Given the description of an element on the screen output the (x, y) to click on. 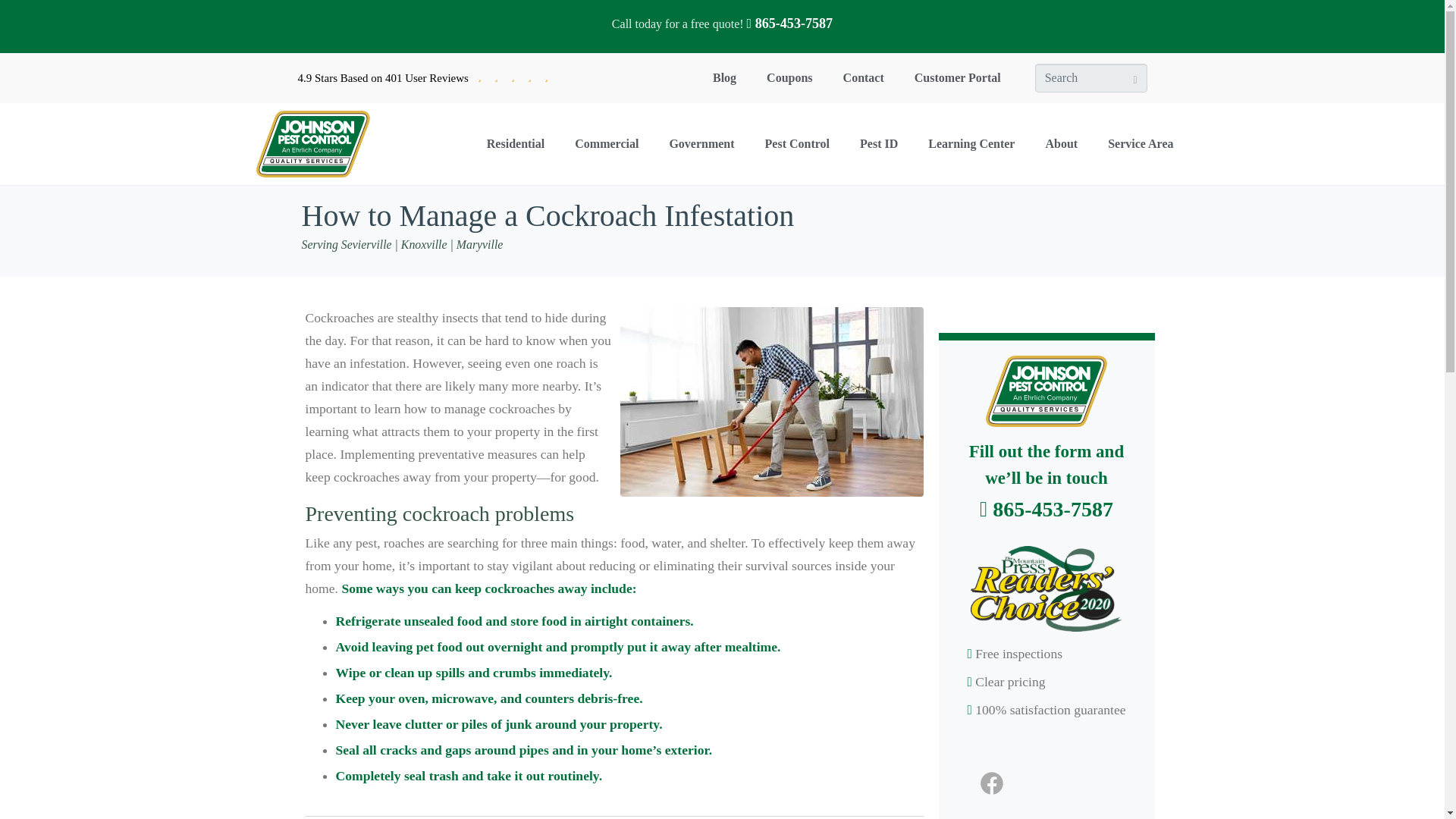
Pest Control (796, 143)
Commercial (606, 143)
Residential (515, 143)
Coupons (789, 77)
Government (701, 143)
Pest ID (878, 143)
Customer Portal (957, 77)
Blog (724, 77)
Contact (863, 77)
 865-453-7587 (789, 23)
